Given the description of an element on the screen output the (x, y) to click on. 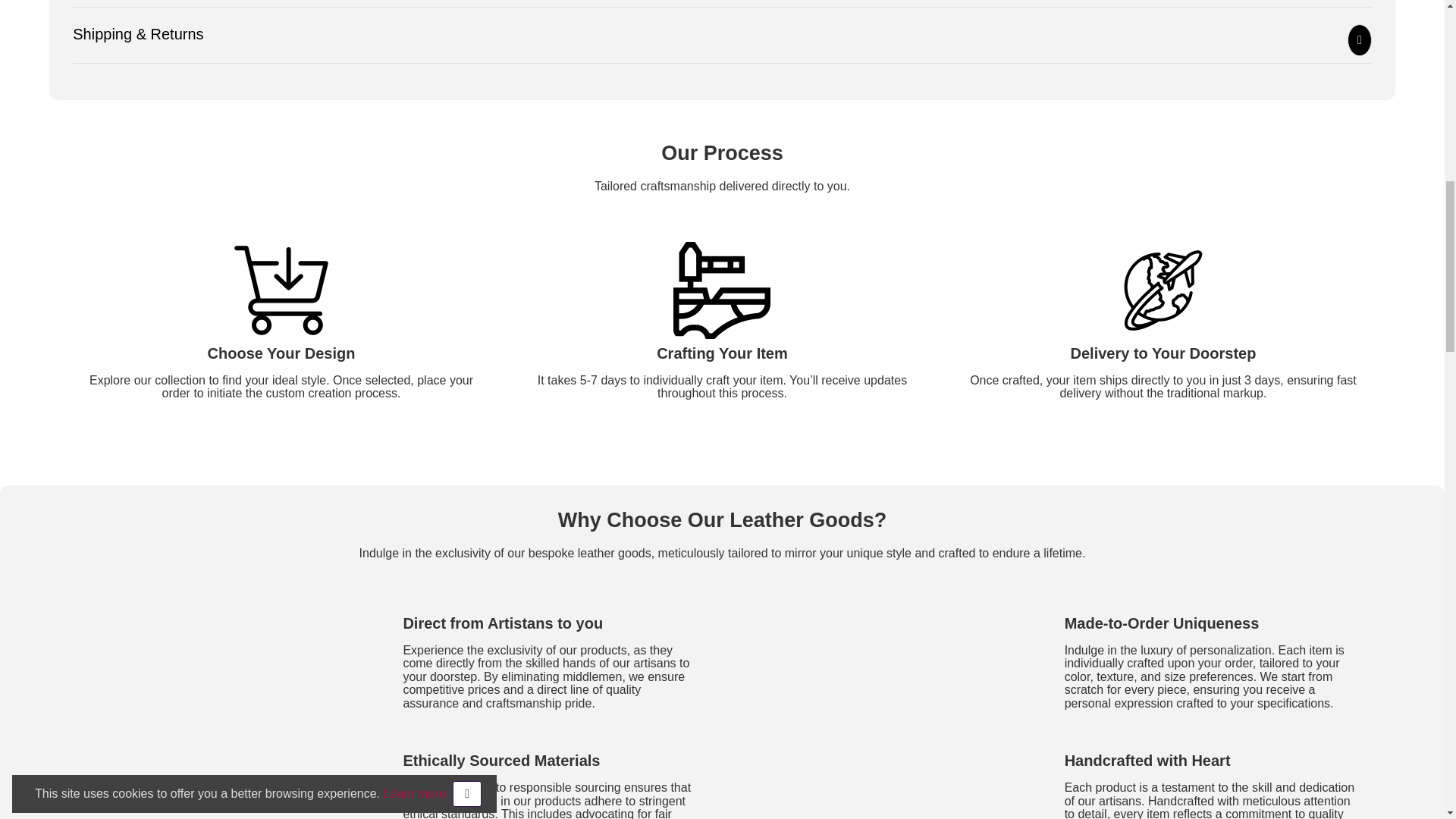
Choose Your Design (281, 290)
Crafting Your Item (721, 290)
Delivery to Your Doorstep (1163, 290)
